Given the description of an element on the screen output the (x, y) to click on. 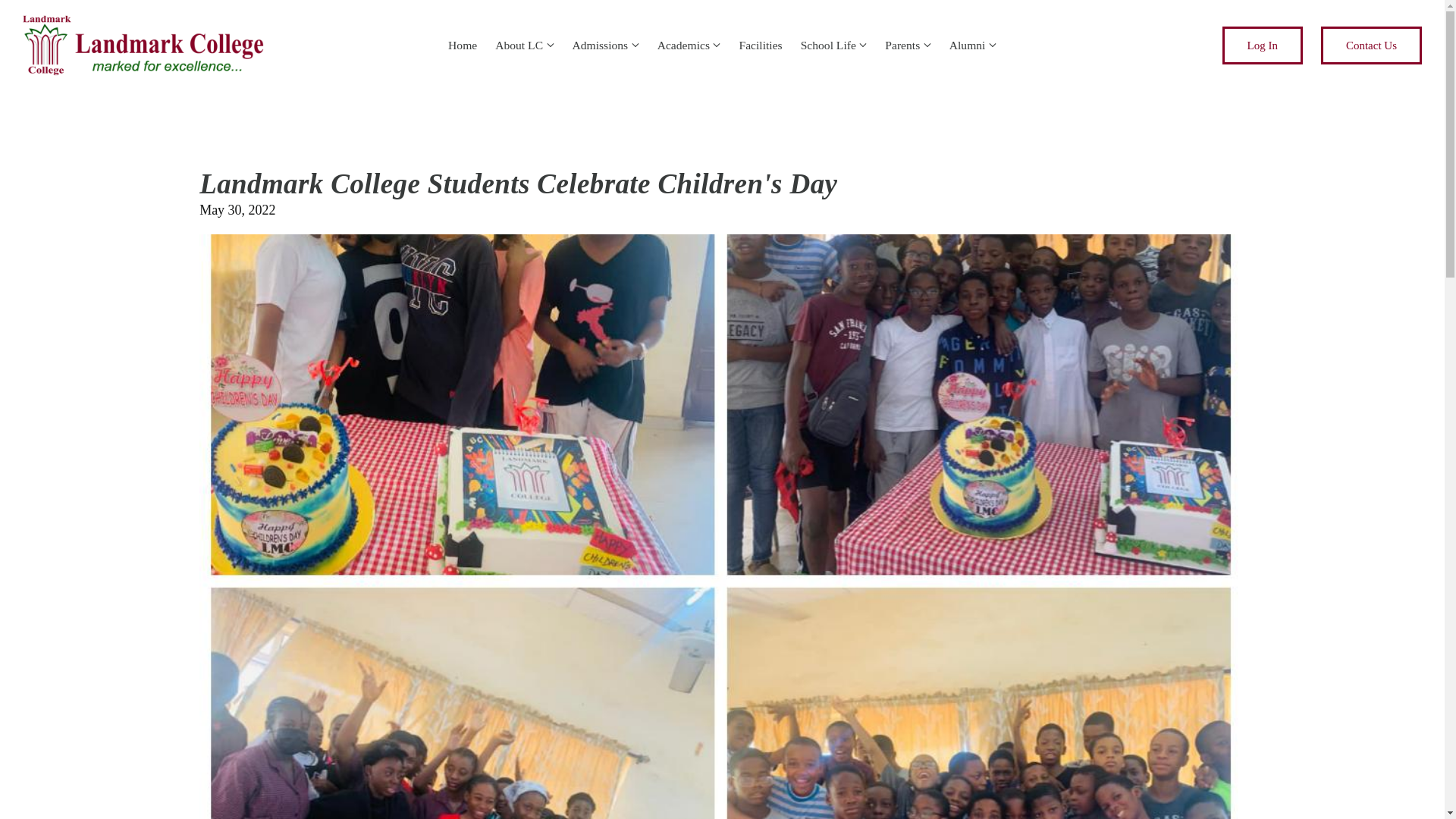
Facilities (759, 44)
Admissions (600, 44)
Parents (902, 44)
Alumni (967, 44)
Home (462, 44)
School Life (828, 44)
Academics (684, 44)
About LC (519, 44)
